Given the description of an element on the screen output the (x, y) to click on. 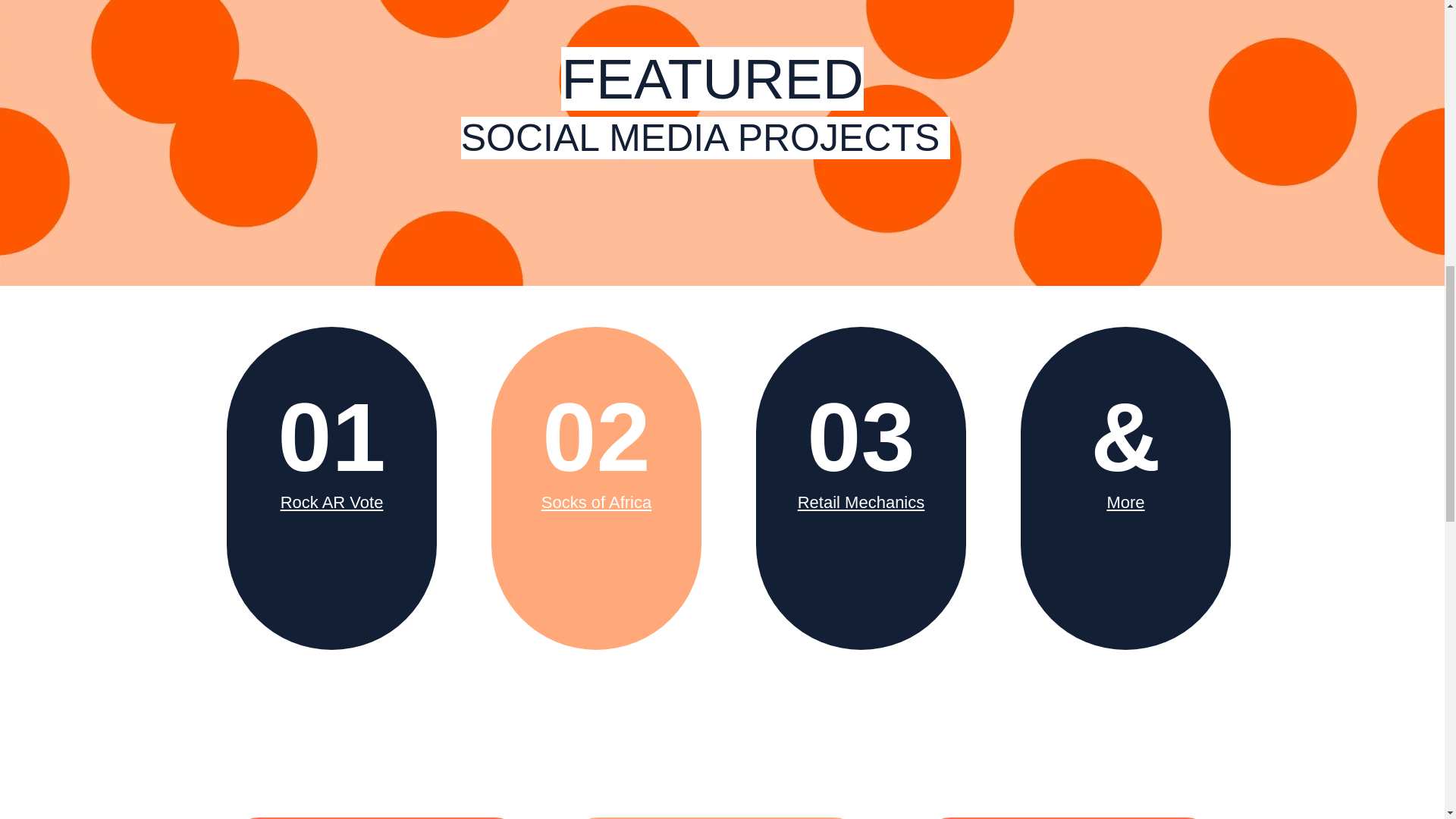
Socks of Africa (596, 502)
Retail Mechanics (860, 502)
More (1125, 502)
Rock AR Vote (332, 502)
